Given the description of an element on the screen output the (x, y) to click on. 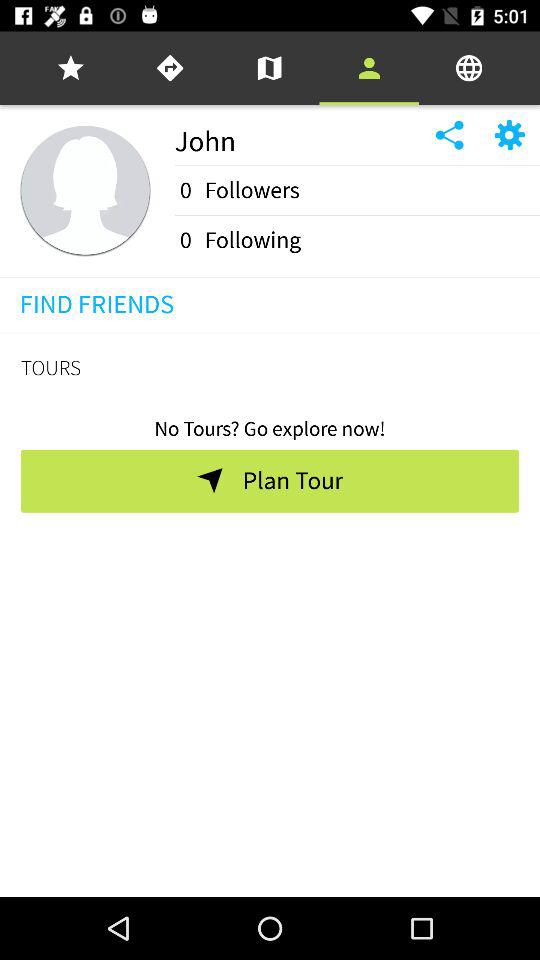
press icon above the 0 (357, 165)
